Given the description of an element on the screen output the (x, y) to click on. 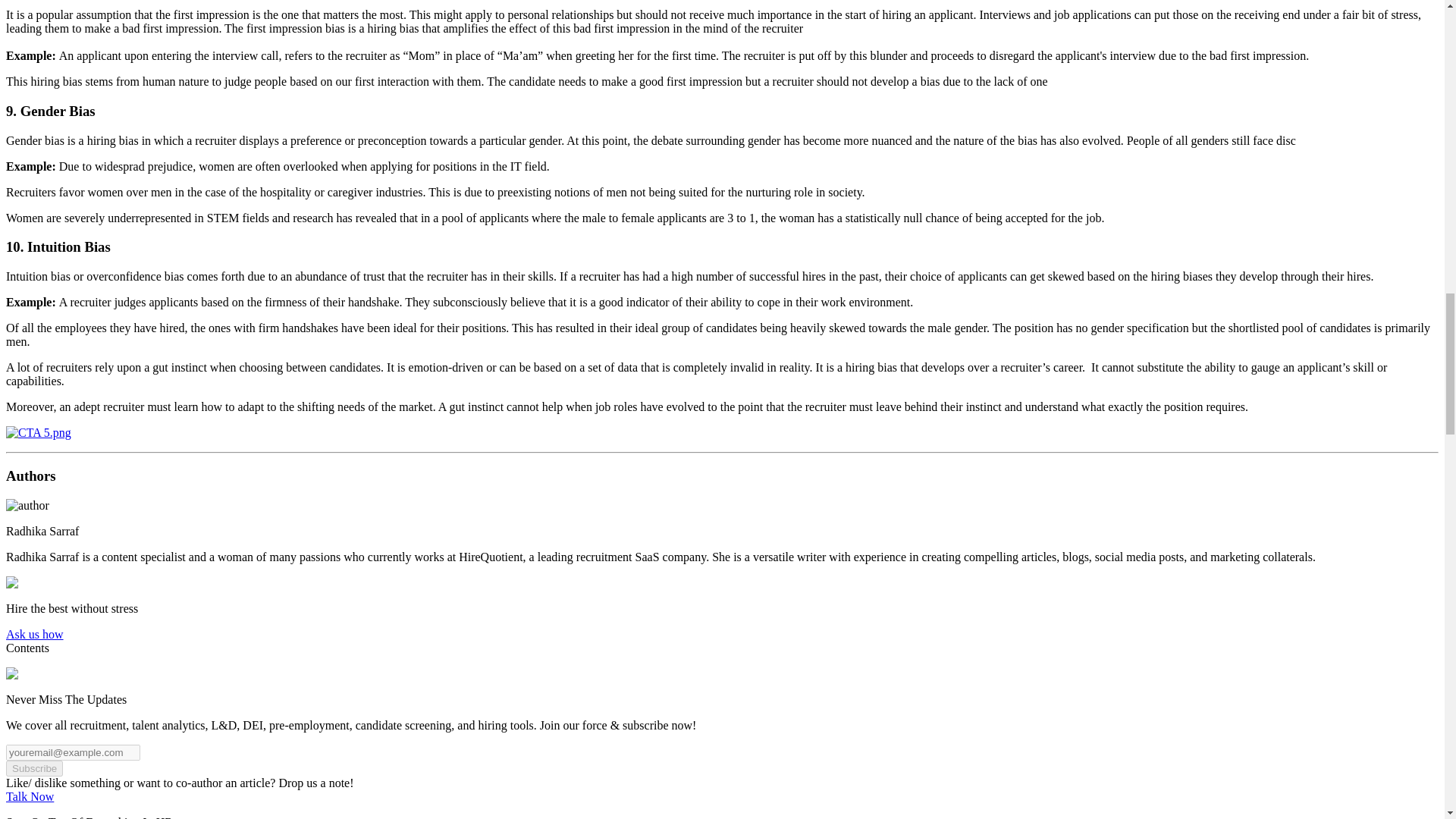
Talk Now (29, 796)
Subscribe (33, 768)
Ask us how (34, 634)
